Given the description of an element on the screen output the (x, y) to click on. 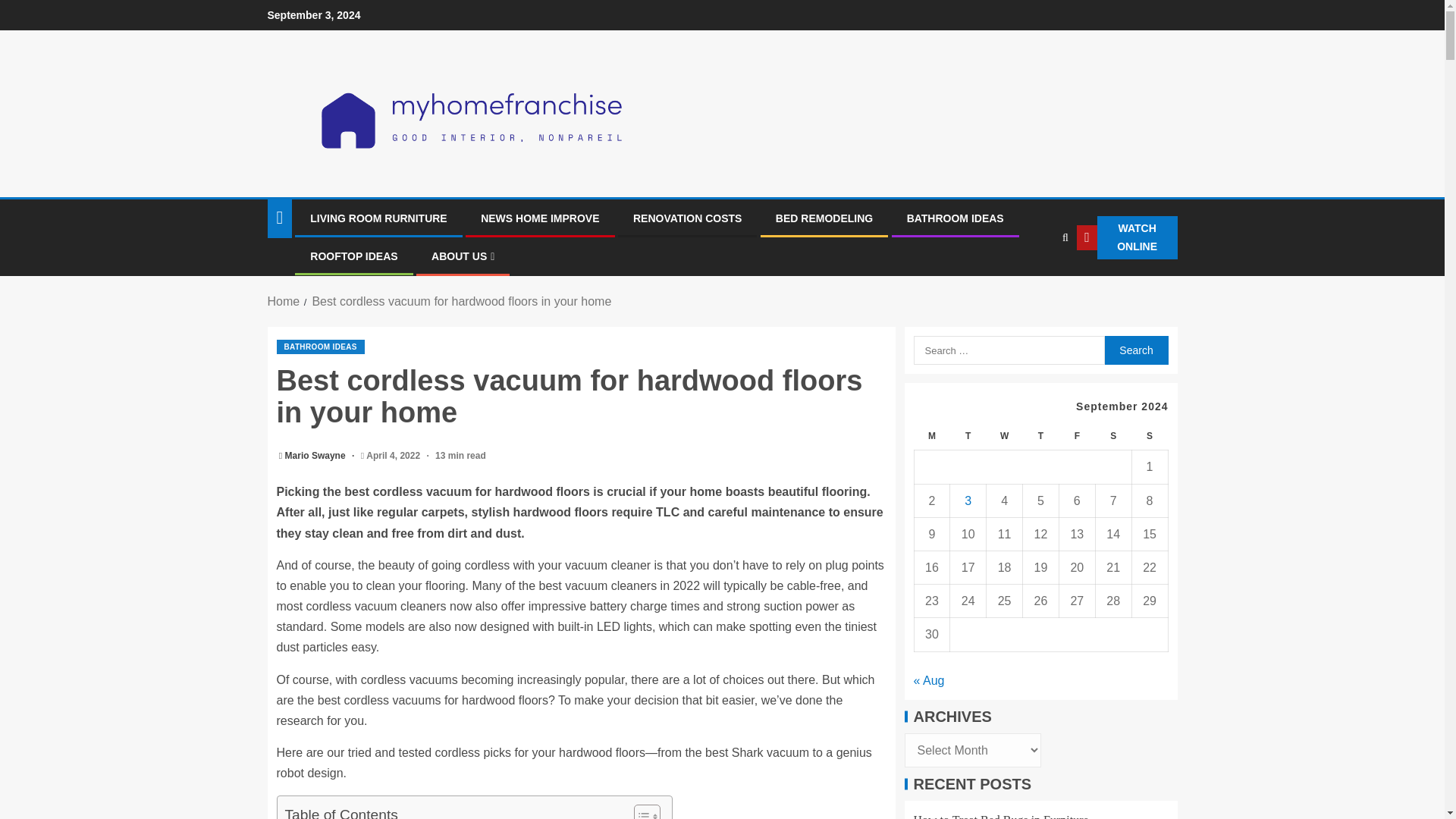
BATHROOM IDEAS (955, 218)
WATCH ONLINE (1126, 238)
Home (282, 300)
Search (1034, 284)
BED REMODELING (824, 218)
ROOFTOP IDEAS (353, 256)
RENOVATION COSTS (687, 218)
LIVING ROOM RURNITURE (378, 218)
BATHROOM IDEAS (320, 346)
ABOUT US (462, 256)
